Given the description of an element on the screen output the (x, y) to click on. 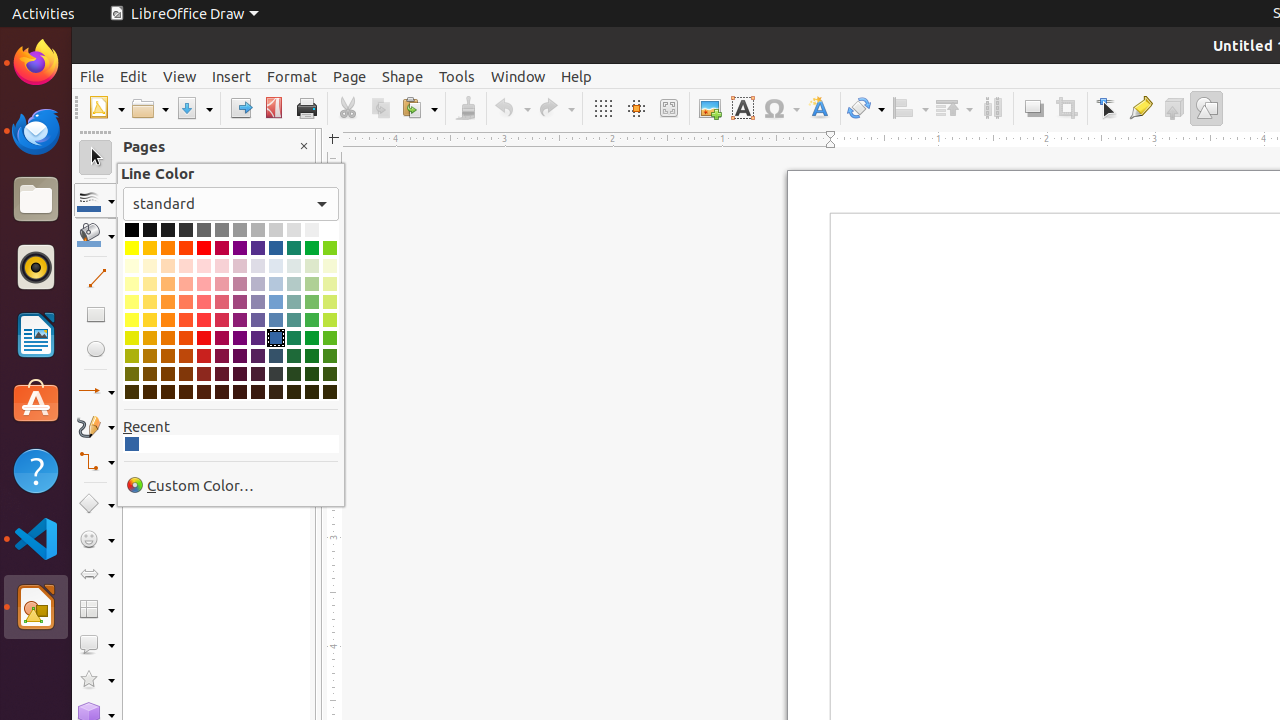
Dark Gold 3 Element type: list-item (150, 374)
Dark Gray 4 Element type: list-item (150, 230)
Light Yellow 1 Element type: list-item (132, 320)
Shadow Element type: toggle-button (1033, 108)
Toggle Extrusion Element type: push-button (1173, 108)
